Given the description of an element on the screen output the (x, y) to click on. 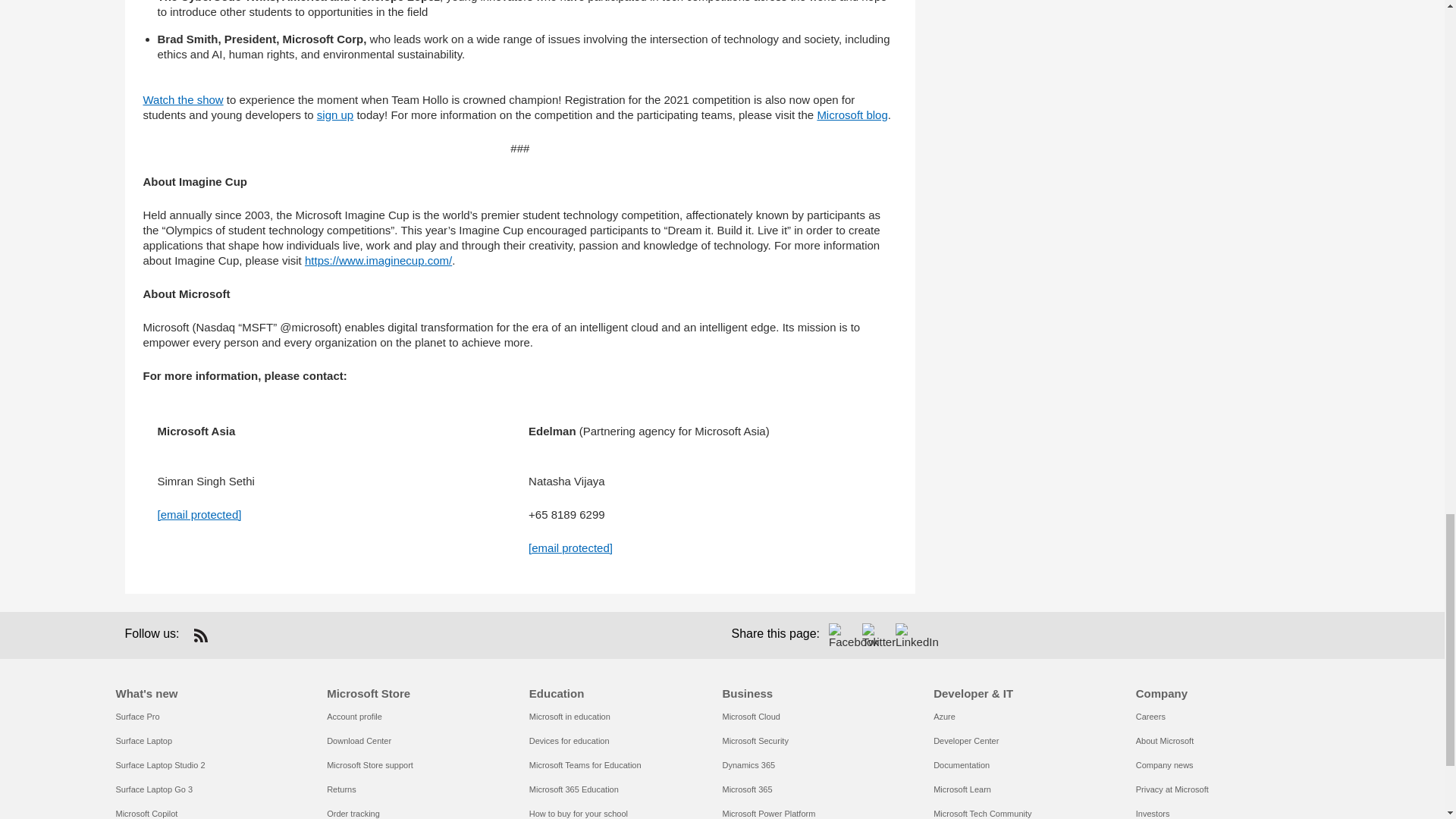
Share on LinkedIn (907, 635)
Share on Twitter (873, 635)
RSS Subscription (200, 635)
Share on Facebook (840, 635)
